Given the description of an element on the screen output the (x, y) to click on. 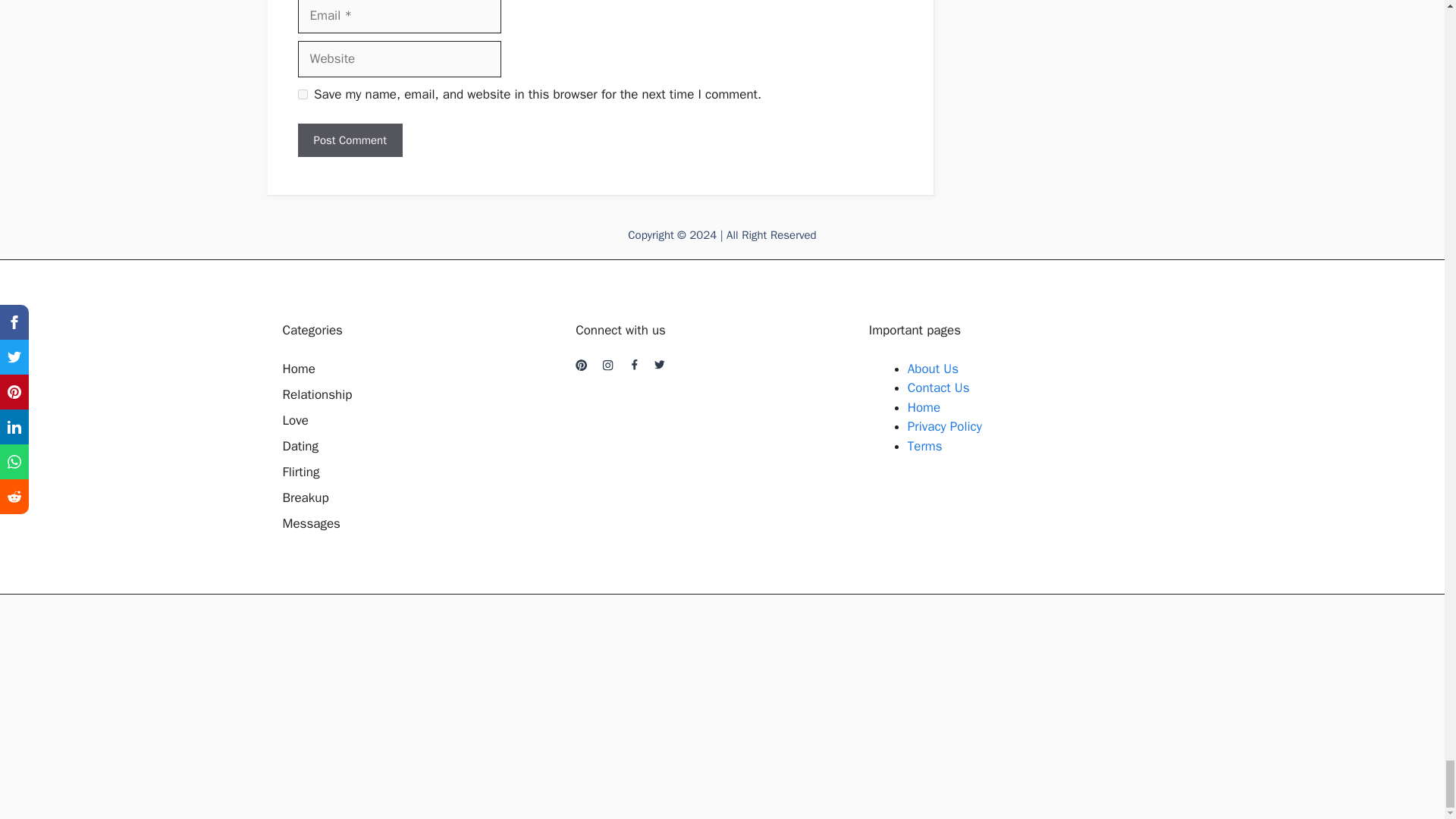
Post Comment (349, 140)
yes (302, 94)
